Given the description of an element on the screen output the (x, y) to click on. 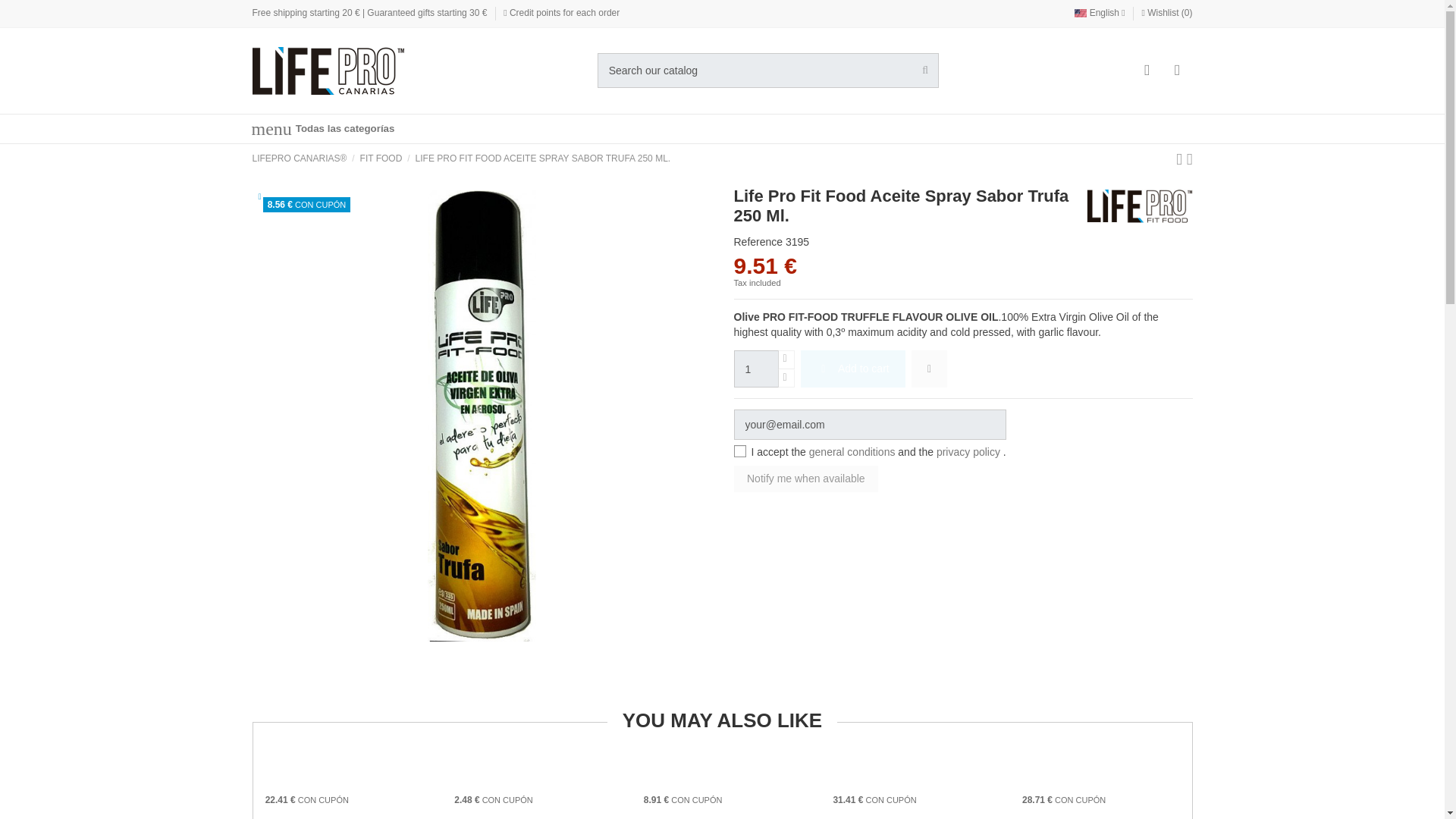
Notify me when available (806, 479)
English (1099, 12)
Log in to your customer account (1147, 70)
1 (755, 368)
